Given the description of an element on the screen output the (x, y) to click on. 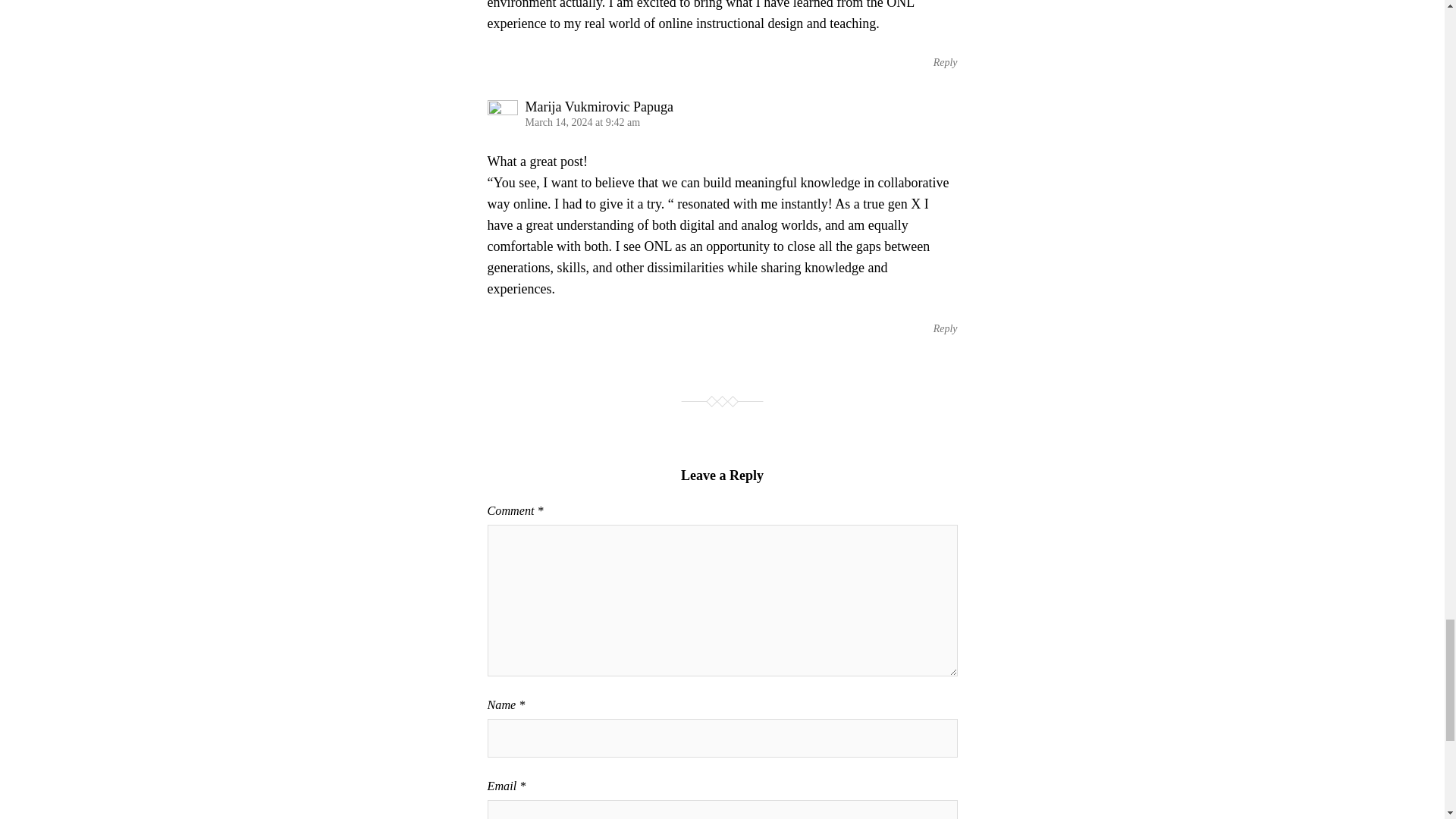
Reply (945, 61)
Reply (945, 328)
March 14, 2024 at 9:42 am (582, 122)
Marija Vukmirovic Papuga (598, 106)
